Given the description of an element on the screen output the (x, y) to click on. 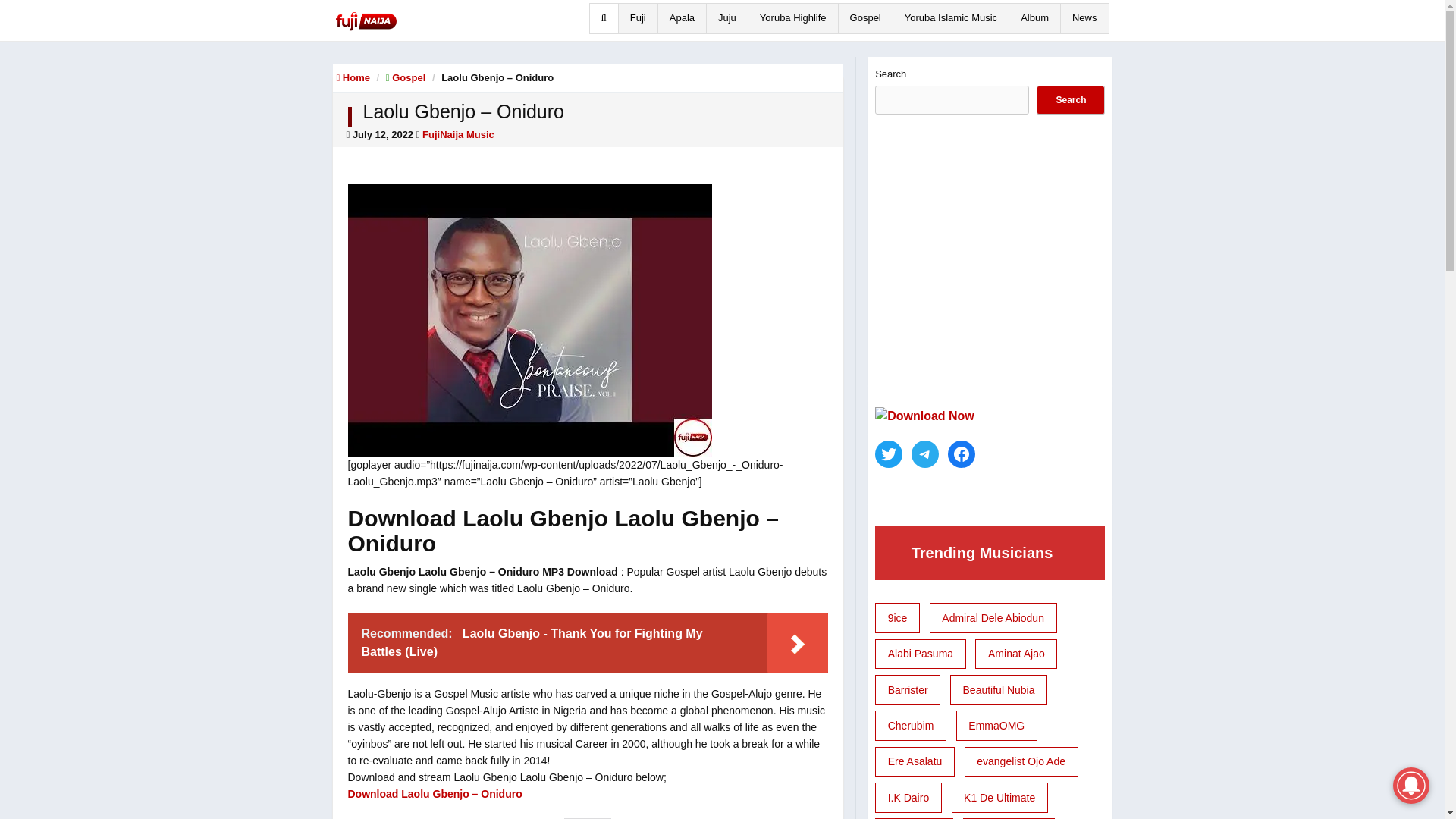
Gospel (408, 77)
Apala (682, 18)
Fuji (637, 18)
Home (352, 77)
FujiNaija Music (458, 134)
Album (1035, 18)
Yoruba Islamic Music (950, 18)
Gospel (865, 18)
News (1084, 18)
Juju (727, 18)
Yoruba Highlife (793, 18)
